Given the description of an element on the screen output the (x, y) to click on. 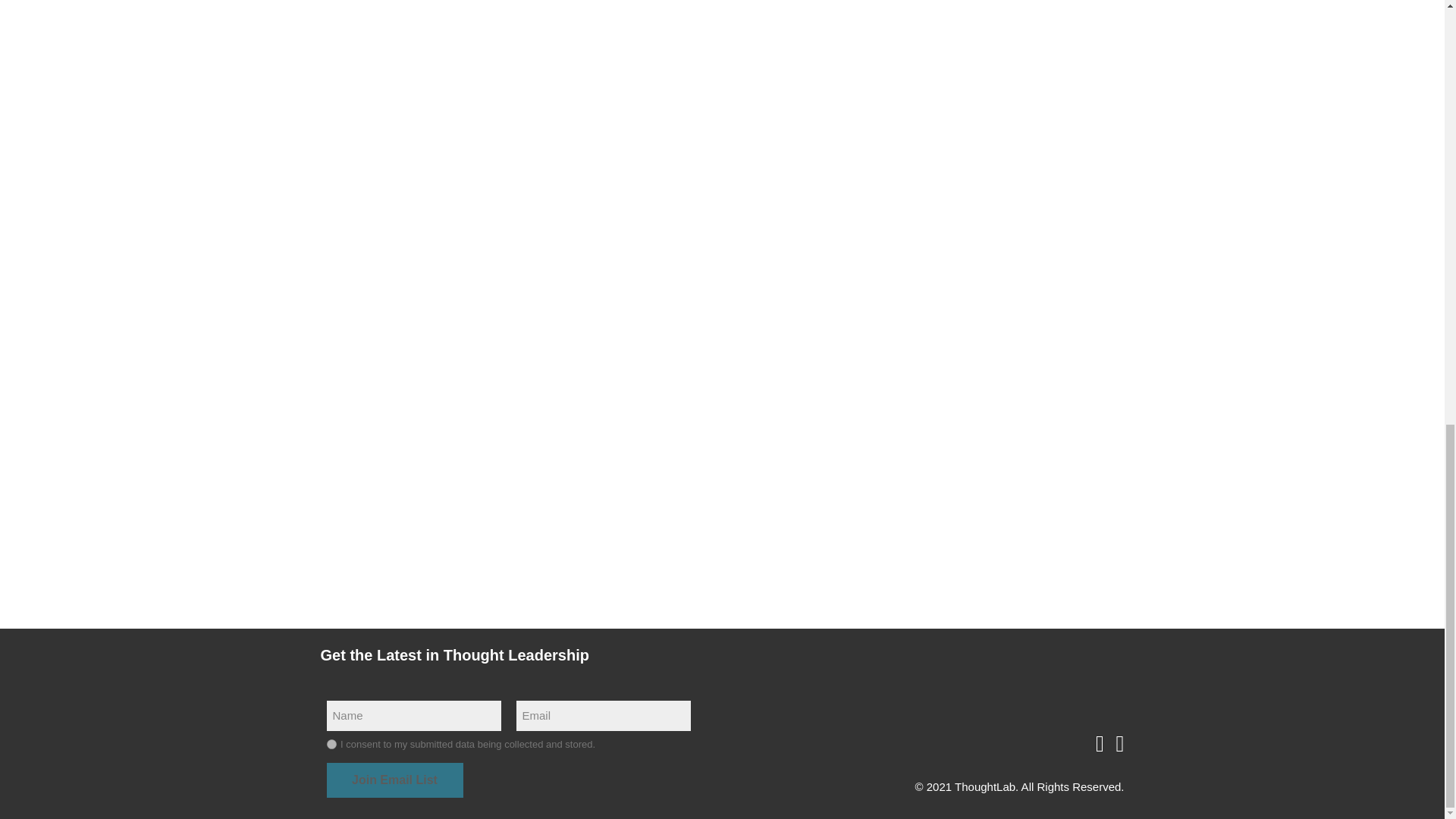
Join Email List (394, 779)
Join Email List (394, 779)
I consent to my submitted data being collected and stored. (331, 744)
